Given the description of an element on the screen output the (x, y) to click on. 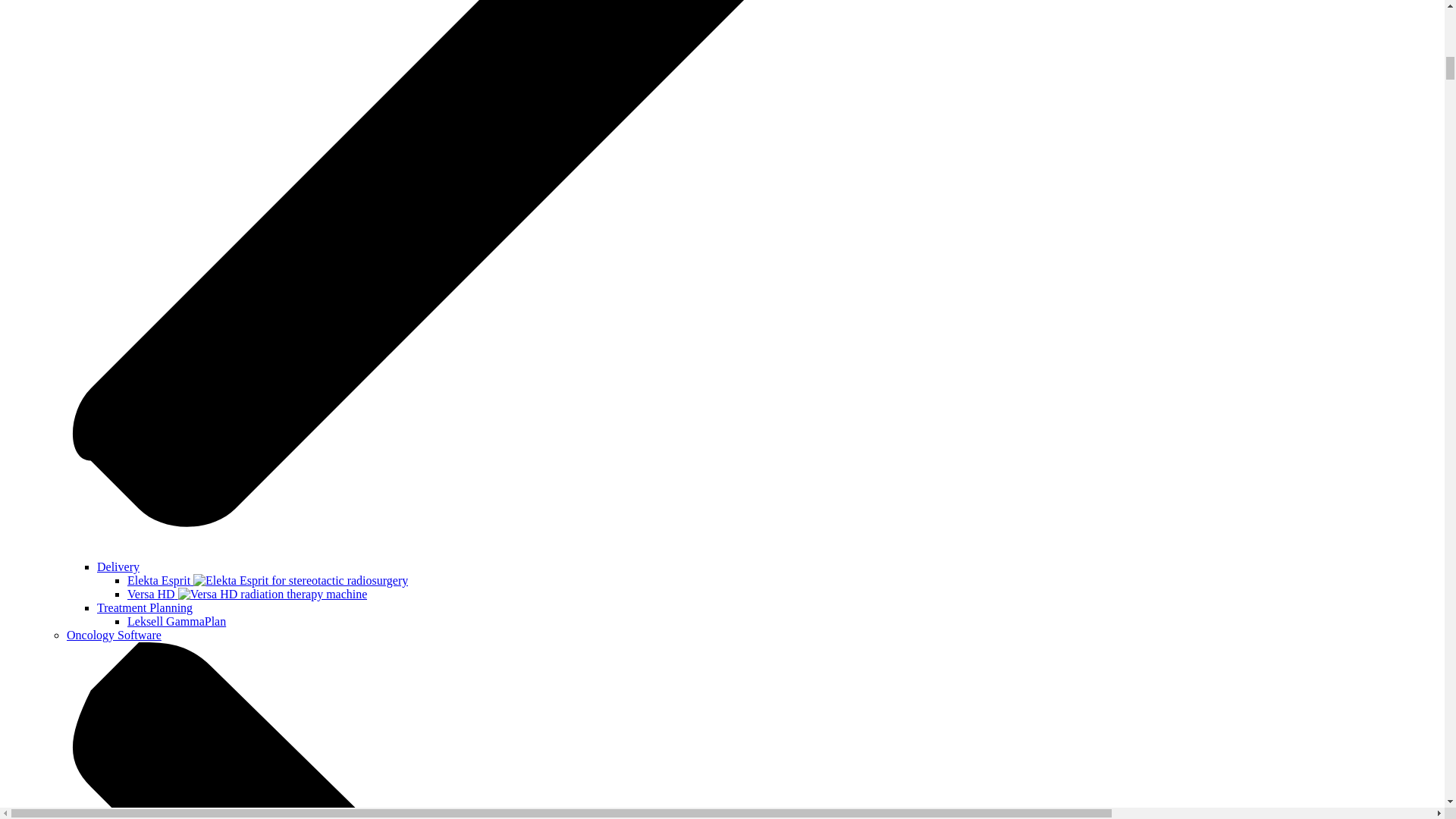
Versa HD (247, 594)
Elekta Esprit (267, 580)
Delivery (118, 566)
Treatment Planning (144, 607)
Leksell GammaPlan (176, 621)
